Given the description of an element on the screen output the (x, y) to click on. 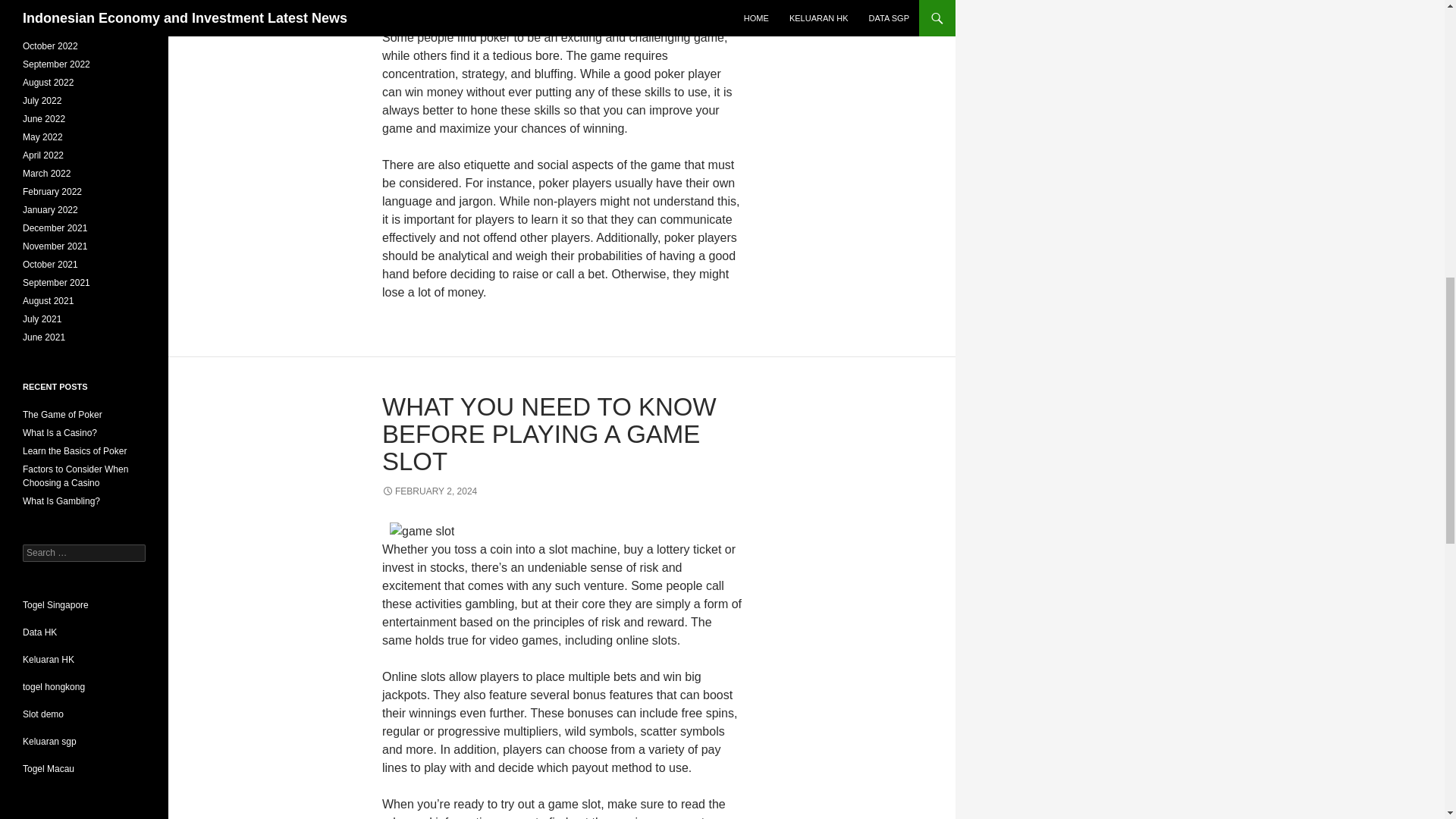
FEBRUARY 2, 2024 (429, 491)
WHAT YOU NEED TO KNOW BEFORE PLAYING A GAME SLOT (548, 434)
